Given the description of an element on the screen output the (x, y) to click on. 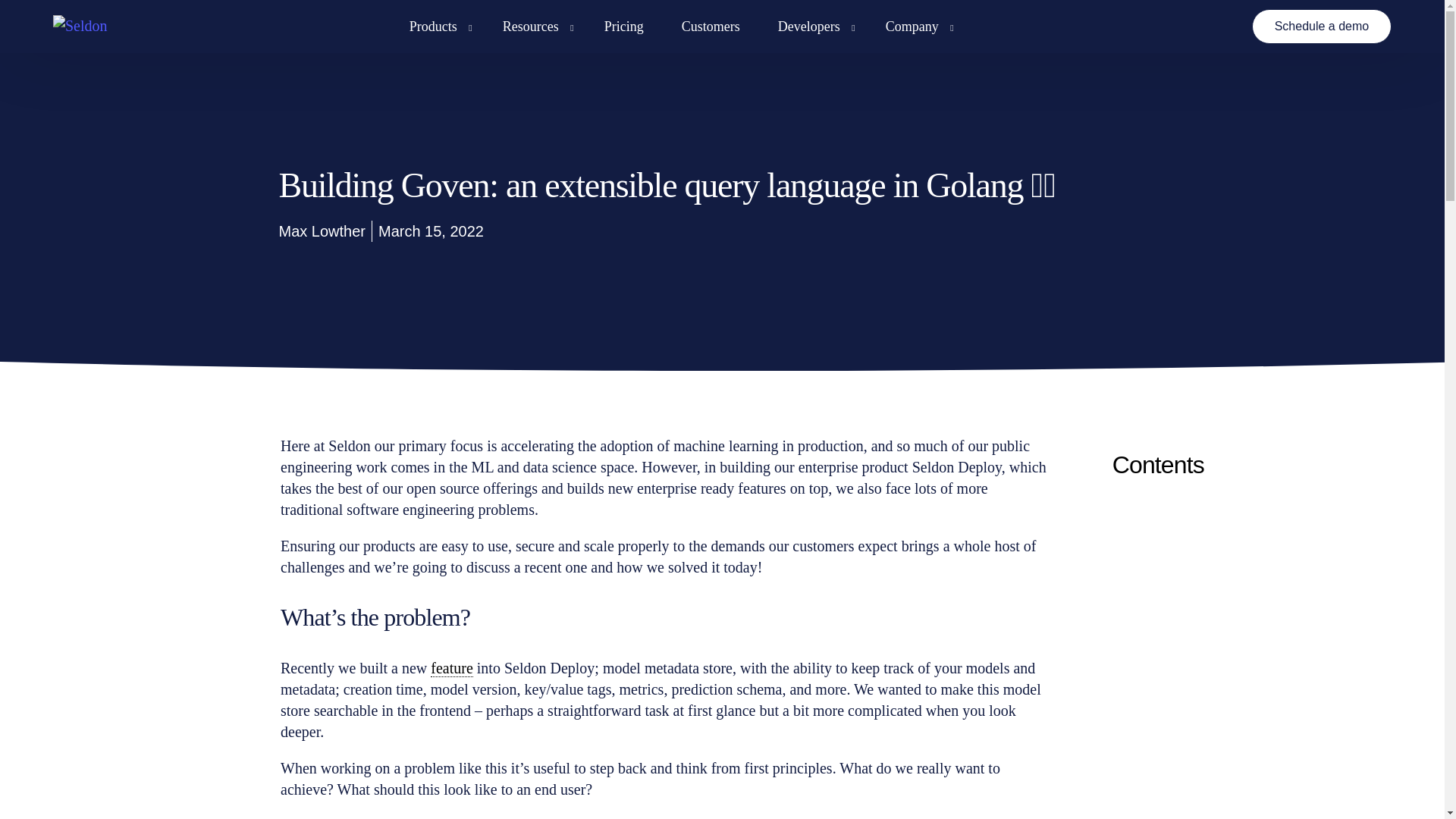
Customers (710, 26)
Resources (534, 26)
Developers (812, 26)
Products (436, 26)
Max Lowther (322, 230)
Schedule a demo (1321, 26)
Pricing (623, 26)
Company (915, 26)
March 15, 2022 (430, 230)
